Given the description of an element on the screen output the (x, y) to click on. 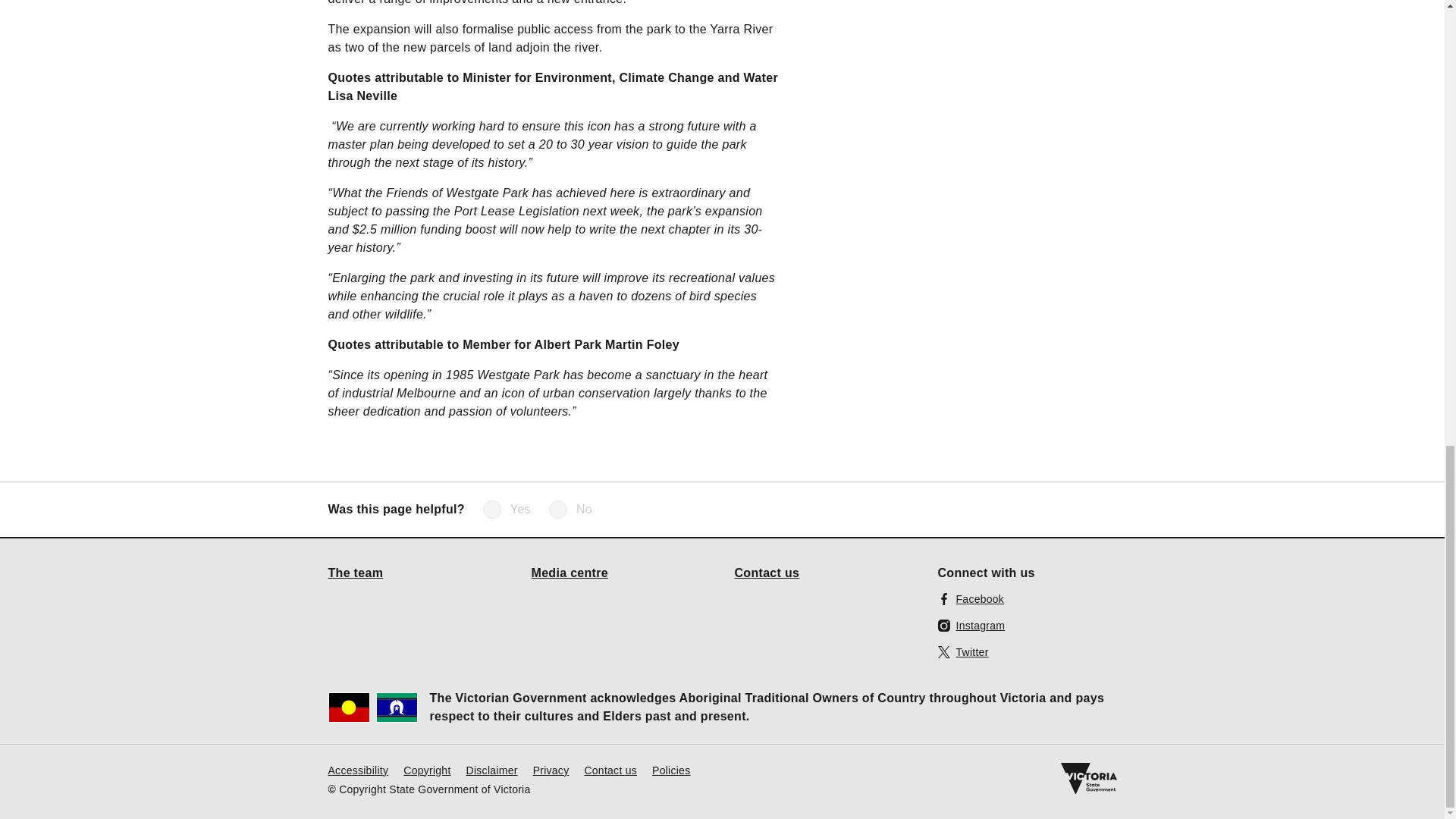
Twitter (962, 651)
Contact us (766, 572)
Instagram (970, 625)
Facebook (970, 598)
The team (354, 572)
Privacy (550, 769)
Disclaimer (491, 769)
Victoria government home (1087, 778)
Contact us (610, 769)
Copyright (426, 769)
Media centre (569, 572)
Accessibility (357, 769)
Policies (671, 769)
